Given the description of an element on the screen output the (x, y) to click on. 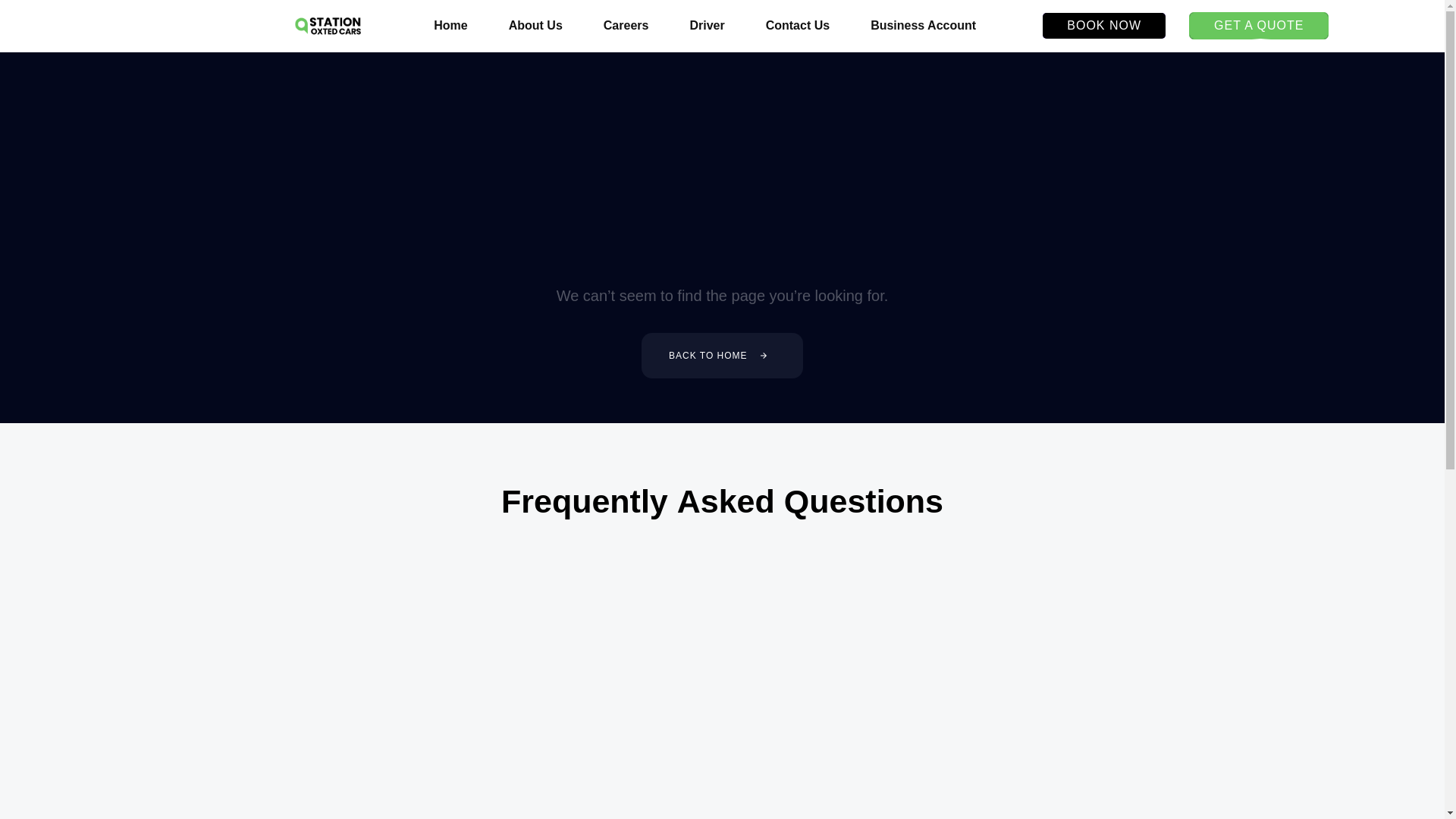
Driver (705, 25)
GET A QUOTE (1258, 25)
Home (450, 25)
Contact Us (797, 25)
BOOK NOW (1104, 25)
BACK TO HOME (722, 355)
Careers (626, 25)
Business Account (922, 25)
About Us (535, 25)
